Given the description of an element on the screen output the (x, y) to click on. 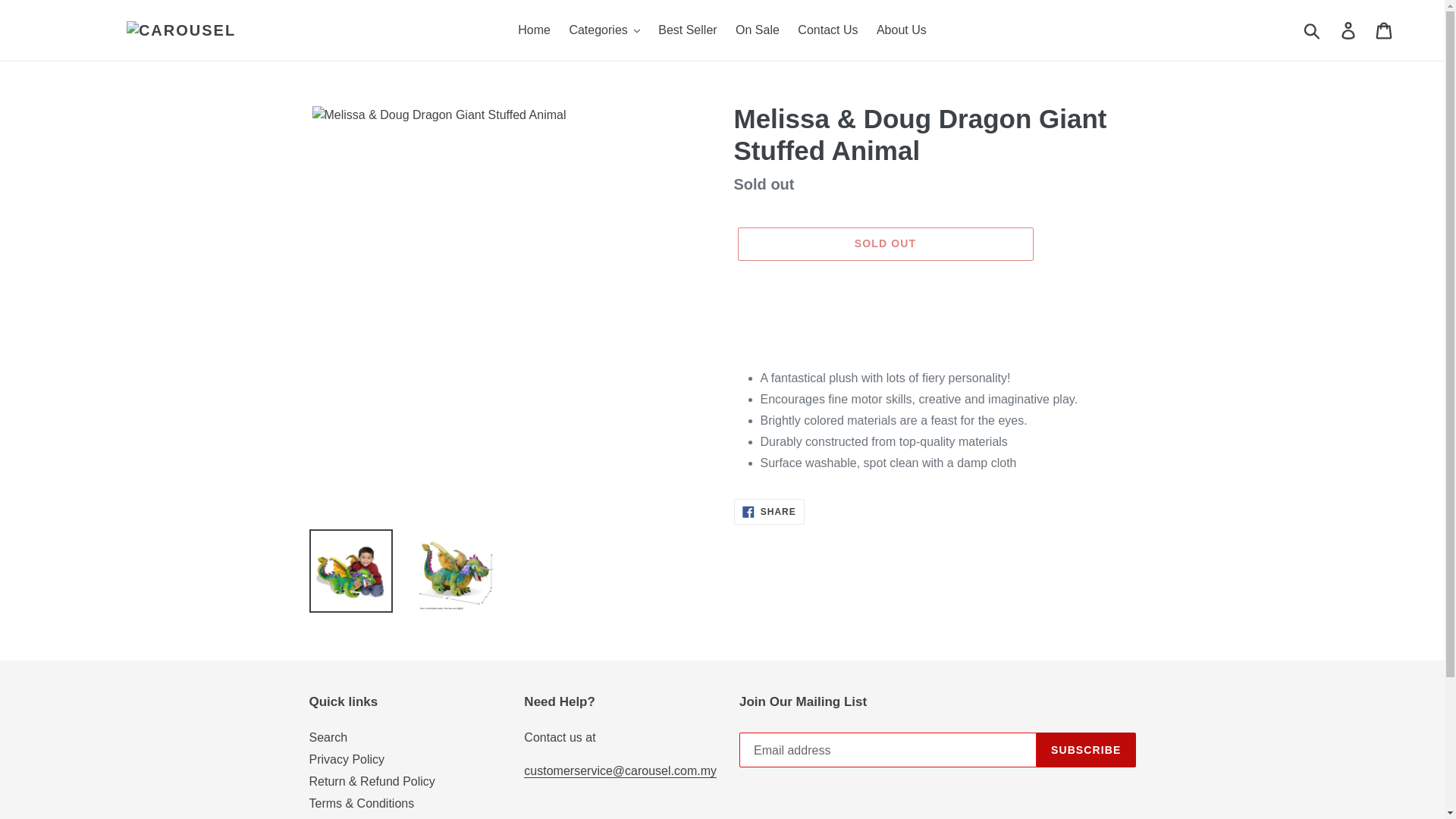
Home (534, 29)
Cart (1385, 29)
Submit (1313, 29)
Best Seller (686, 29)
About Us (901, 29)
On Sale (757, 29)
Log in (1349, 29)
Contact Us (827, 29)
